Given the description of an element on the screen output the (x, y) to click on. 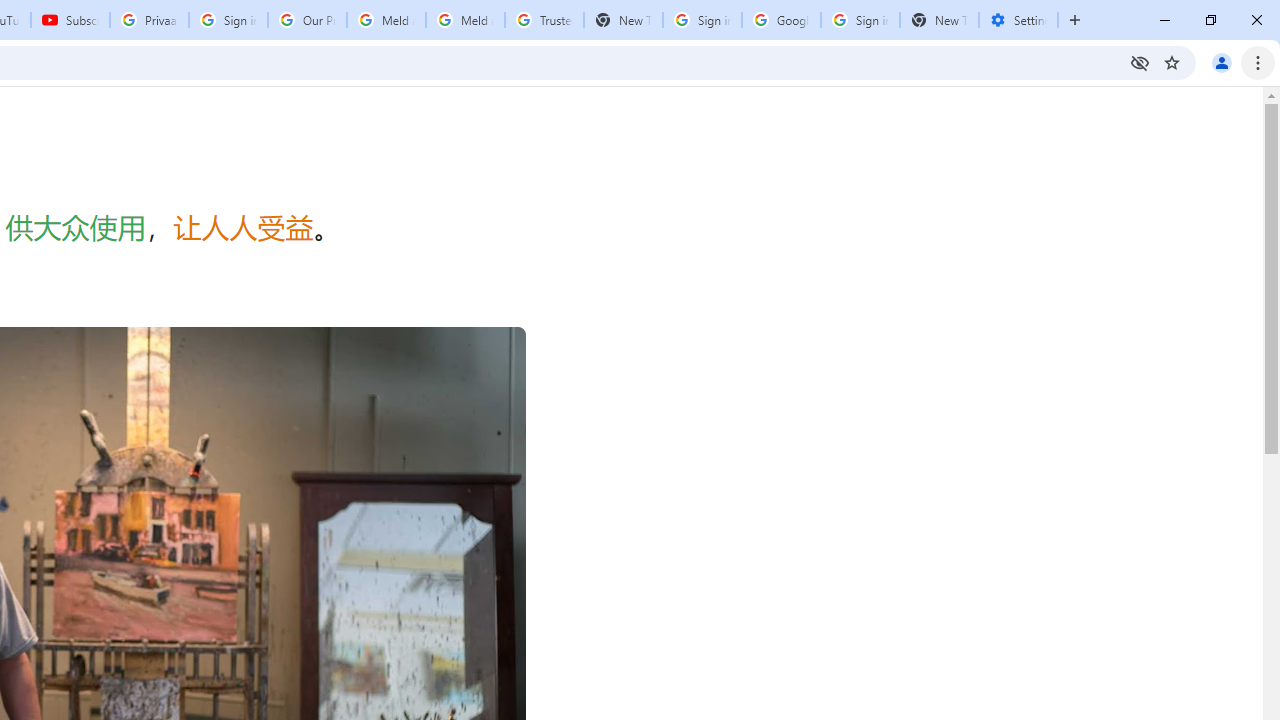
New Tab (939, 20)
Sign in - Google Accounts (702, 20)
Sign in - Google Accounts (228, 20)
Sign in - Google Accounts (859, 20)
Settings - Addresses and more (1018, 20)
